Given the description of an element on the screen output the (x, y) to click on. 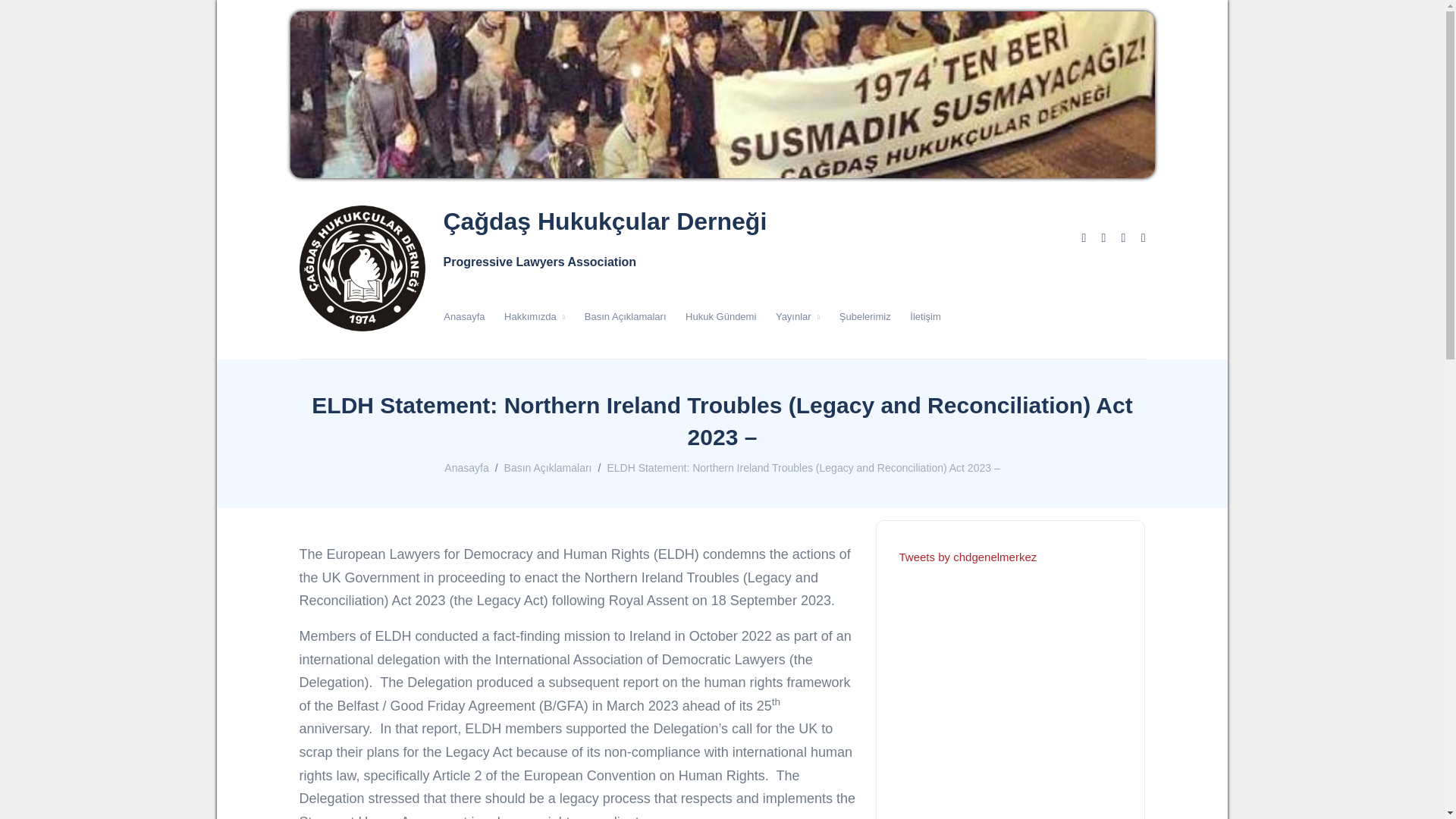
Anasayfa (464, 316)
Anasayfa (465, 467)
